Given the description of an element on the screen output the (x, y) to click on. 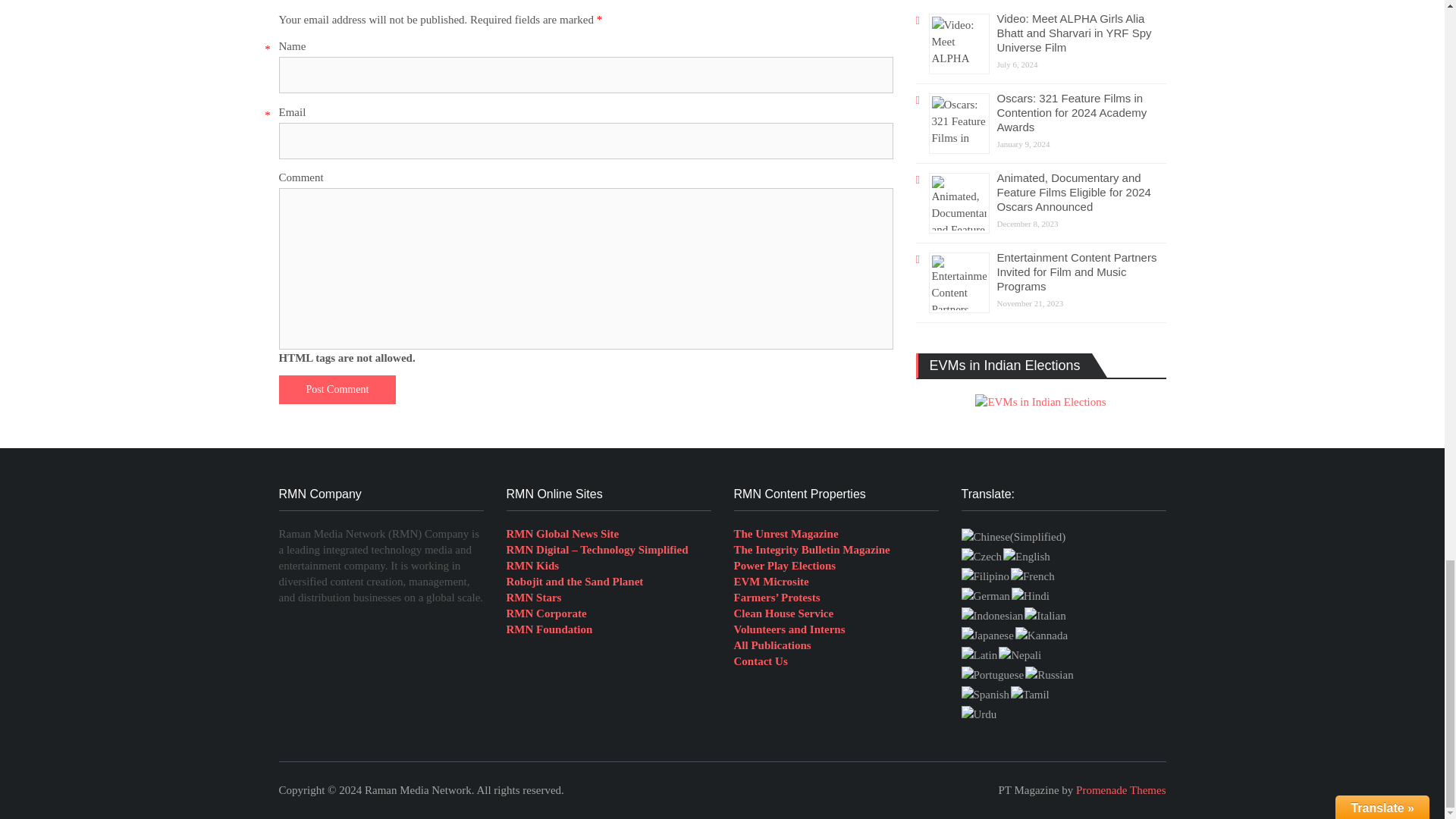
Post Comment (337, 389)
